Given the description of an element on the screen output the (x, y) to click on. 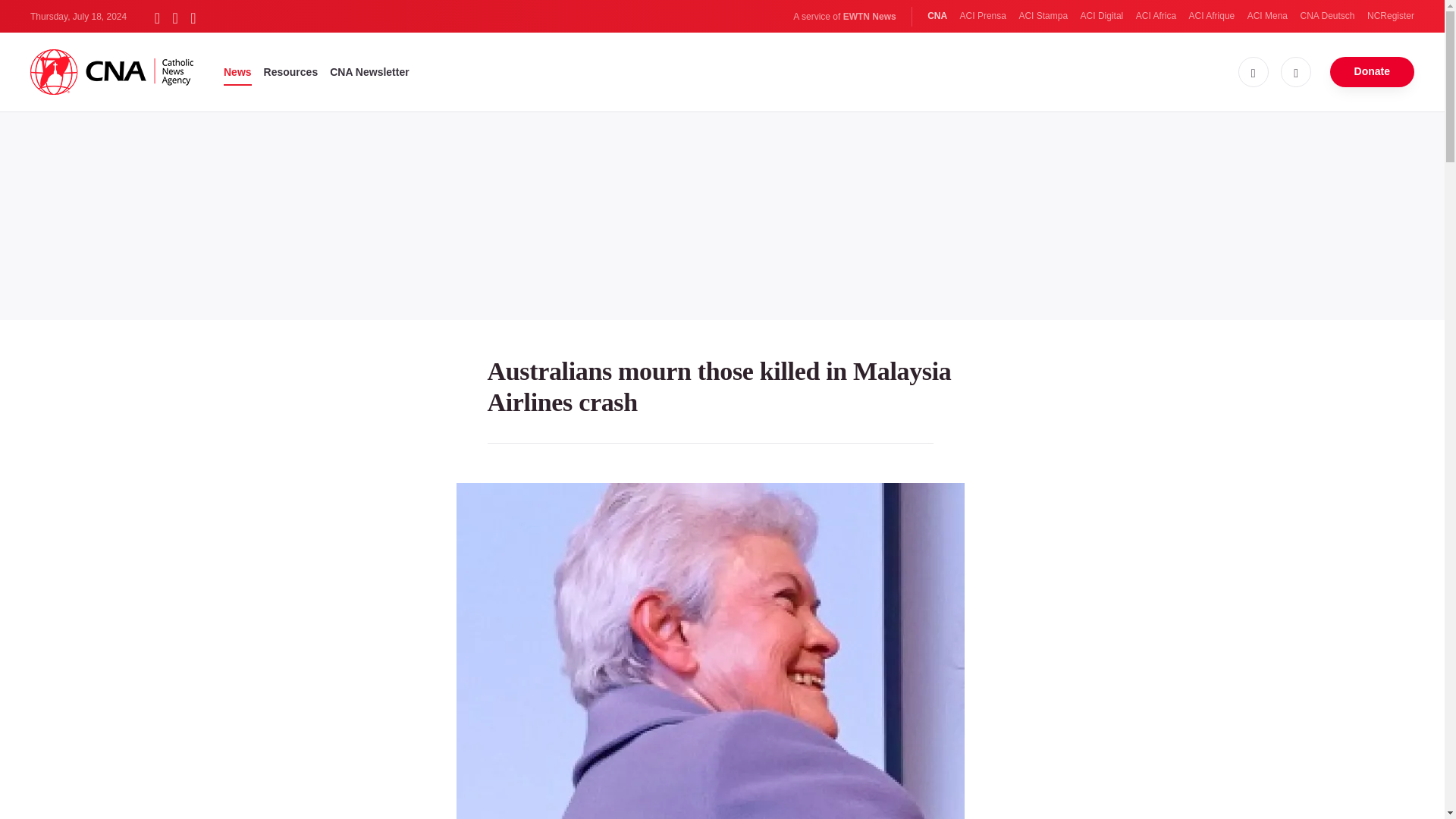
ACI Prensa (982, 16)
ACI Mena (1267, 16)
CNA Deutsch (1327, 16)
ACI Afrique (1211, 16)
NCRegister (1390, 16)
ACI Stampa (1042, 16)
News (237, 71)
ACI Digital (1102, 16)
EWTN News (869, 16)
ACI Africa (1155, 16)
EWTN News (869, 16)
CNA (937, 16)
Resources (290, 71)
